Given the description of an element on the screen output the (x, y) to click on. 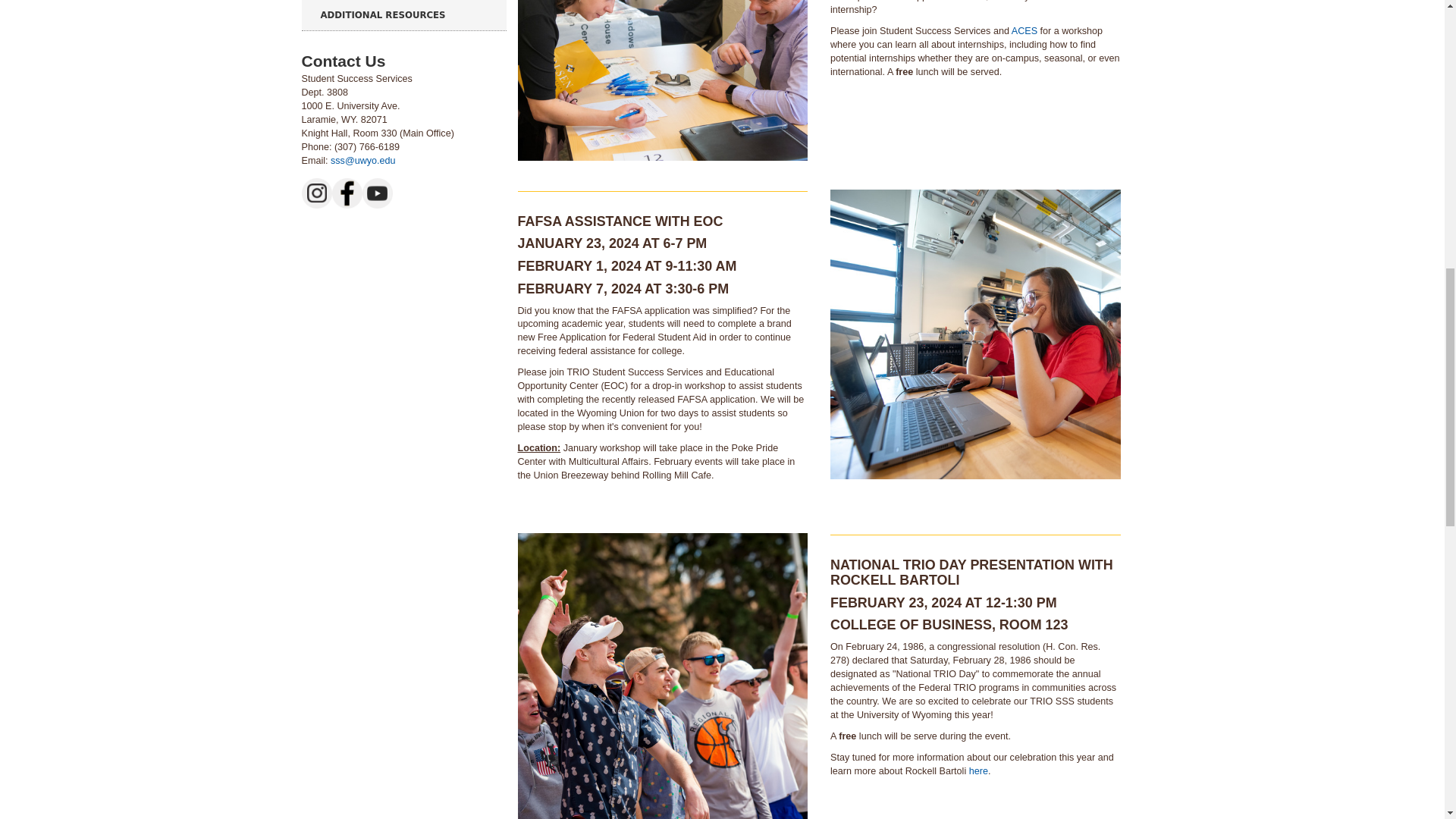
Welcome Back BBQ (975, 334)
New Student Orientation (662, 80)
Financial Literacy (662, 676)
